Given the description of an element on the screen output the (x, y) to click on. 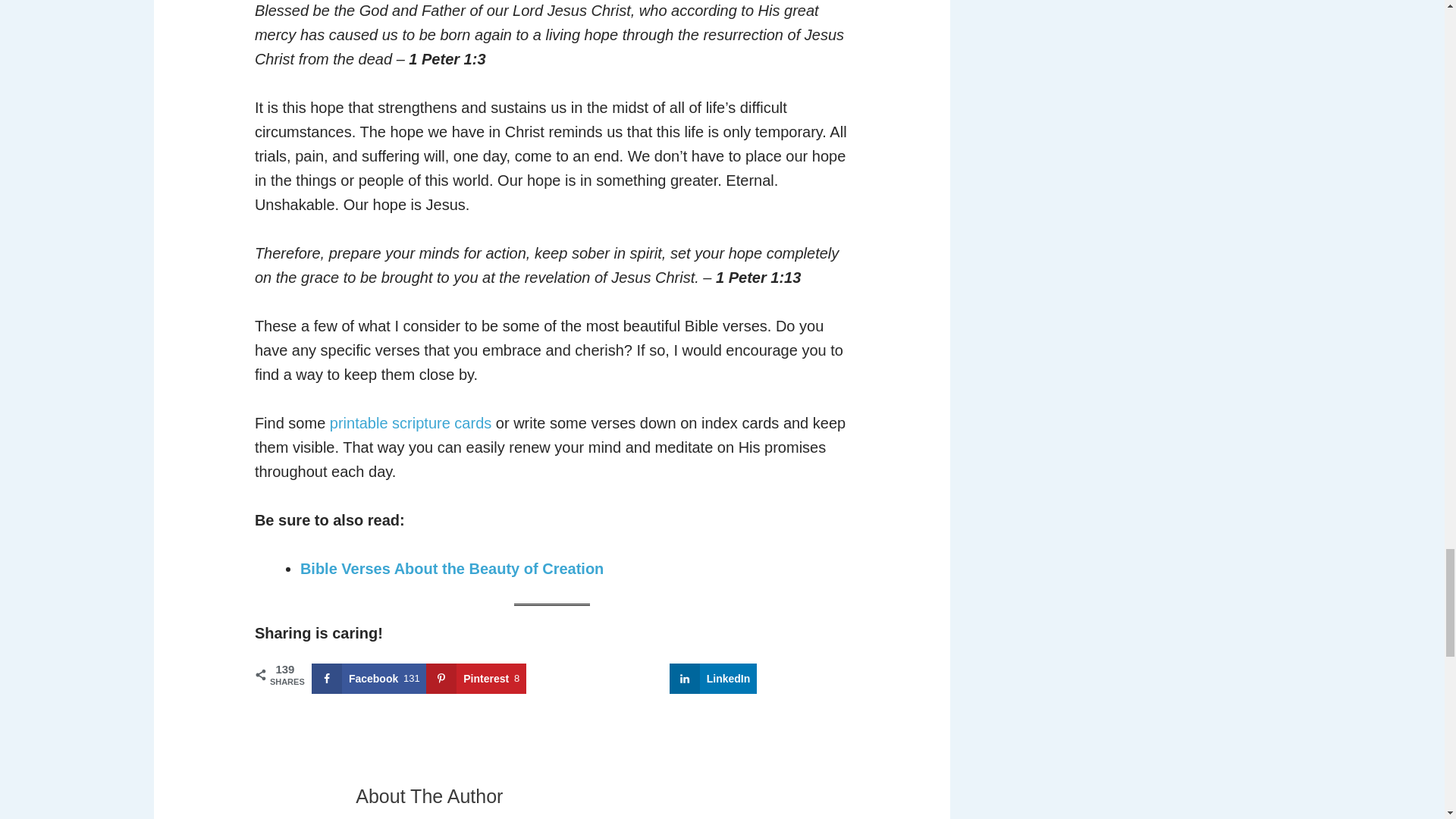
Share on Threads (799, 678)
Share on Facebook (368, 678)
Share on Flipboard (571, 678)
Share on X (642, 678)
Share on LinkedIn (713, 678)
Save to Pinterest (475, 678)
